Given the description of an element on the screen output the (x, y) to click on. 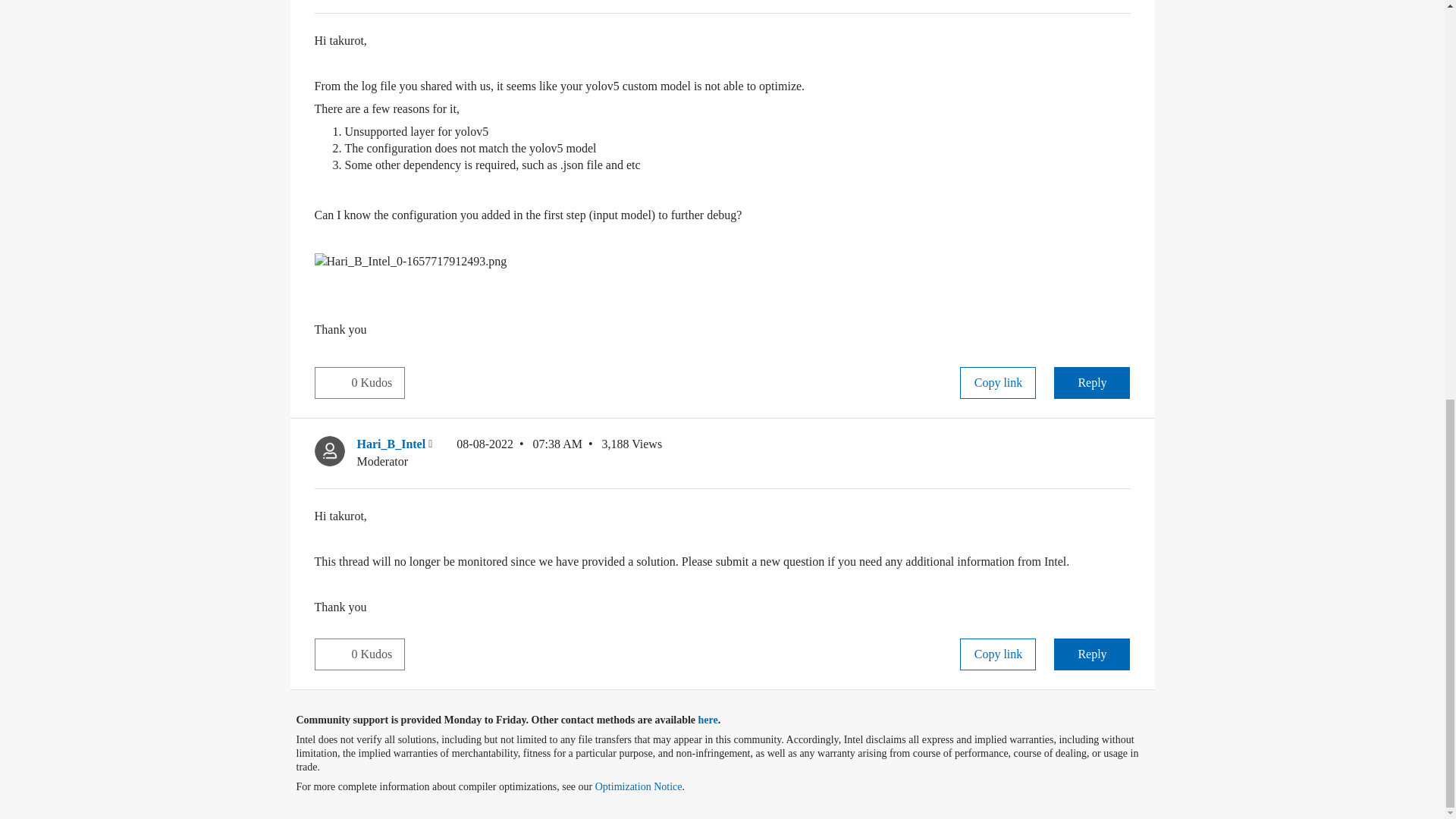
Click here to give kudos to this post. (332, 381)
The total number of kudos this post has received. (377, 382)
Posted on (519, 452)
